Given the description of an element on the screen output the (x, y) to click on. 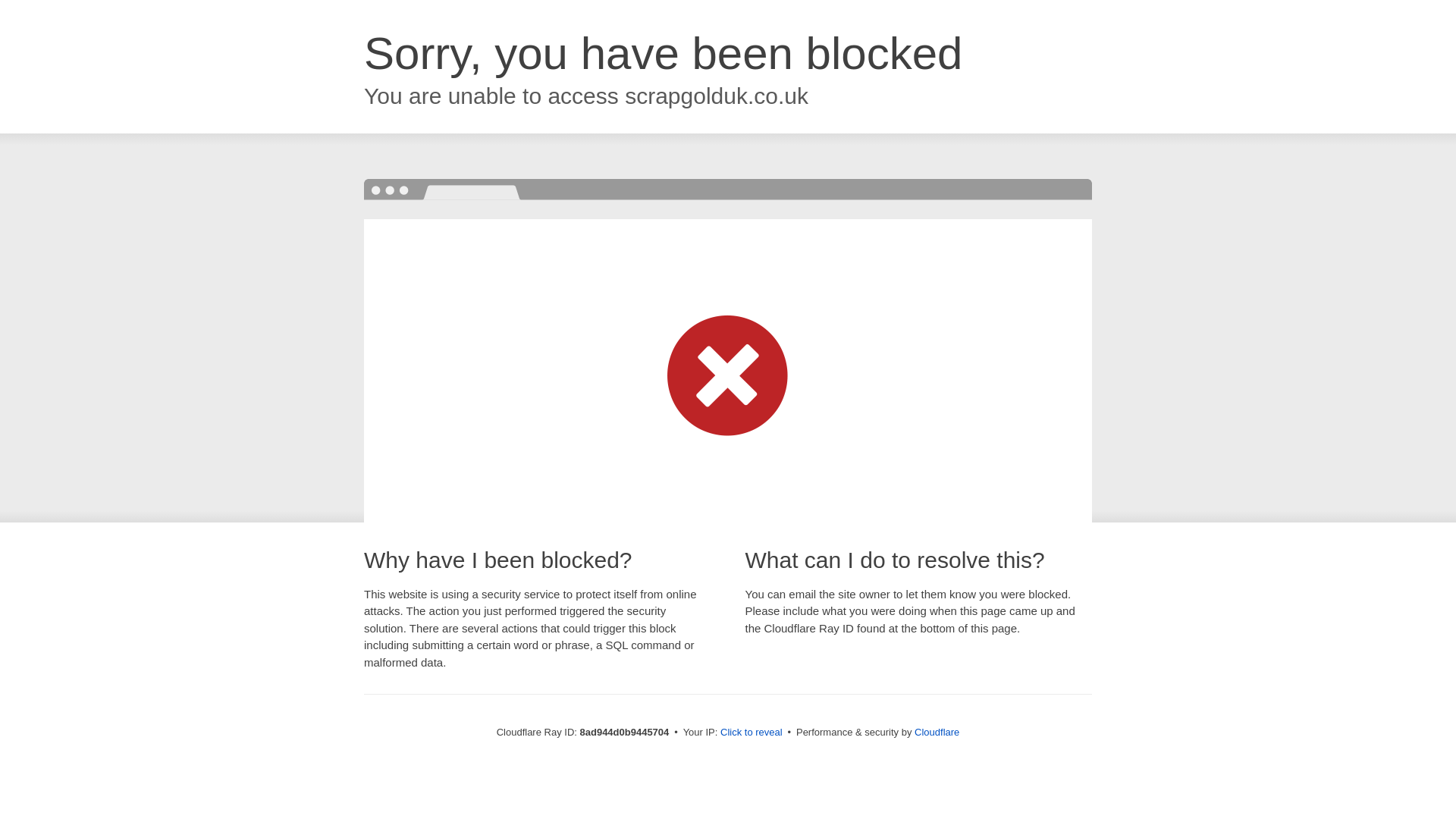
Cloudflare (936, 731)
Click to reveal (751, 732)
